Given the description of an element on the screen output the (x, y) to click on. 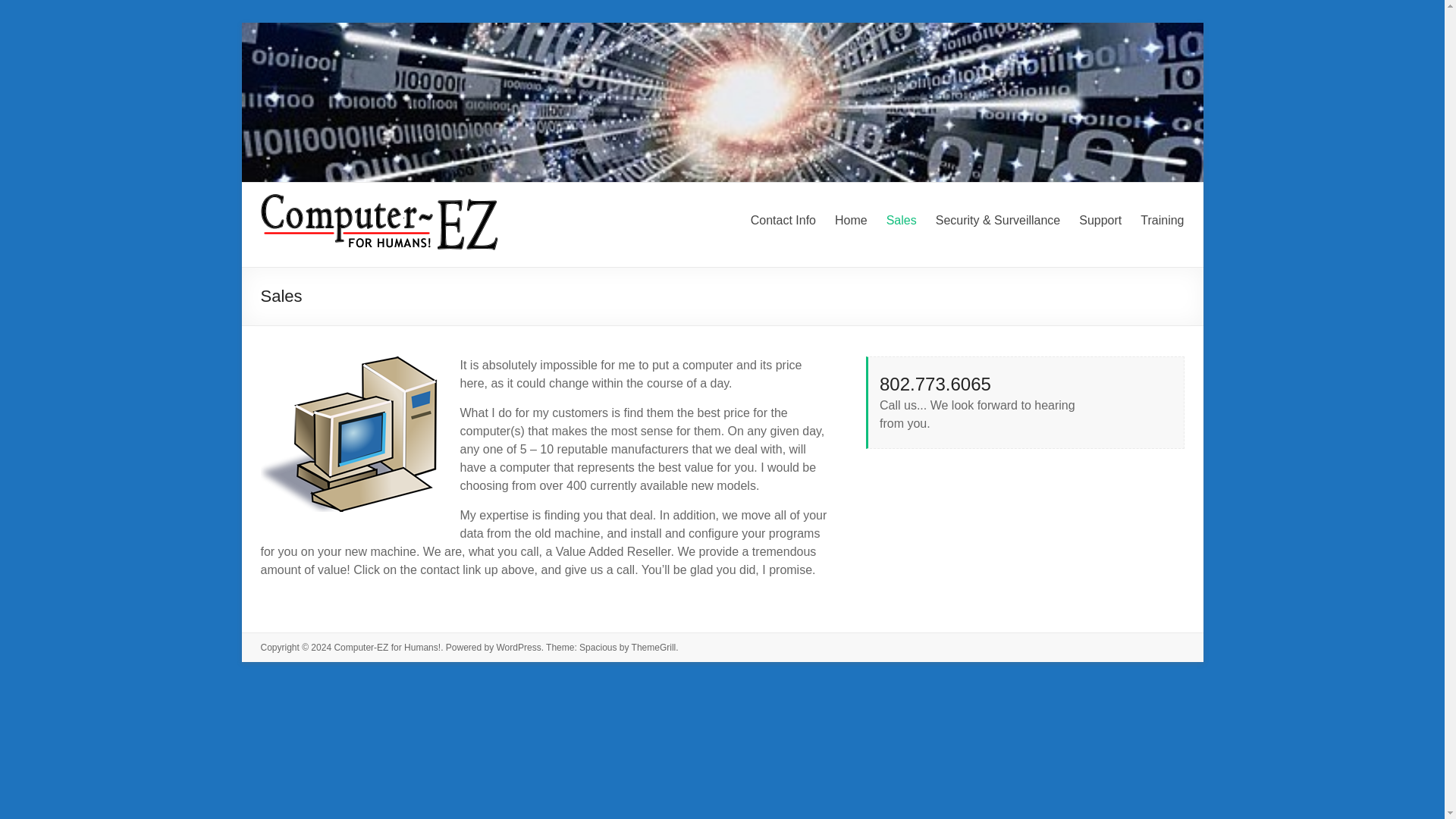
ThemeGrill (654, 647)
Computer-EZ for Humans! (323, 243)
Contact Info (783, 220)
Computer-EZ for Humans! (387, 647)
Home (850, 220)
Computer-EZ for Humans! (323, 243)
Training (1161, 220)
WordPress (518, 647)
Sales (901, 220)
